Given the description of an element on the screen output the (x, y) to click on. 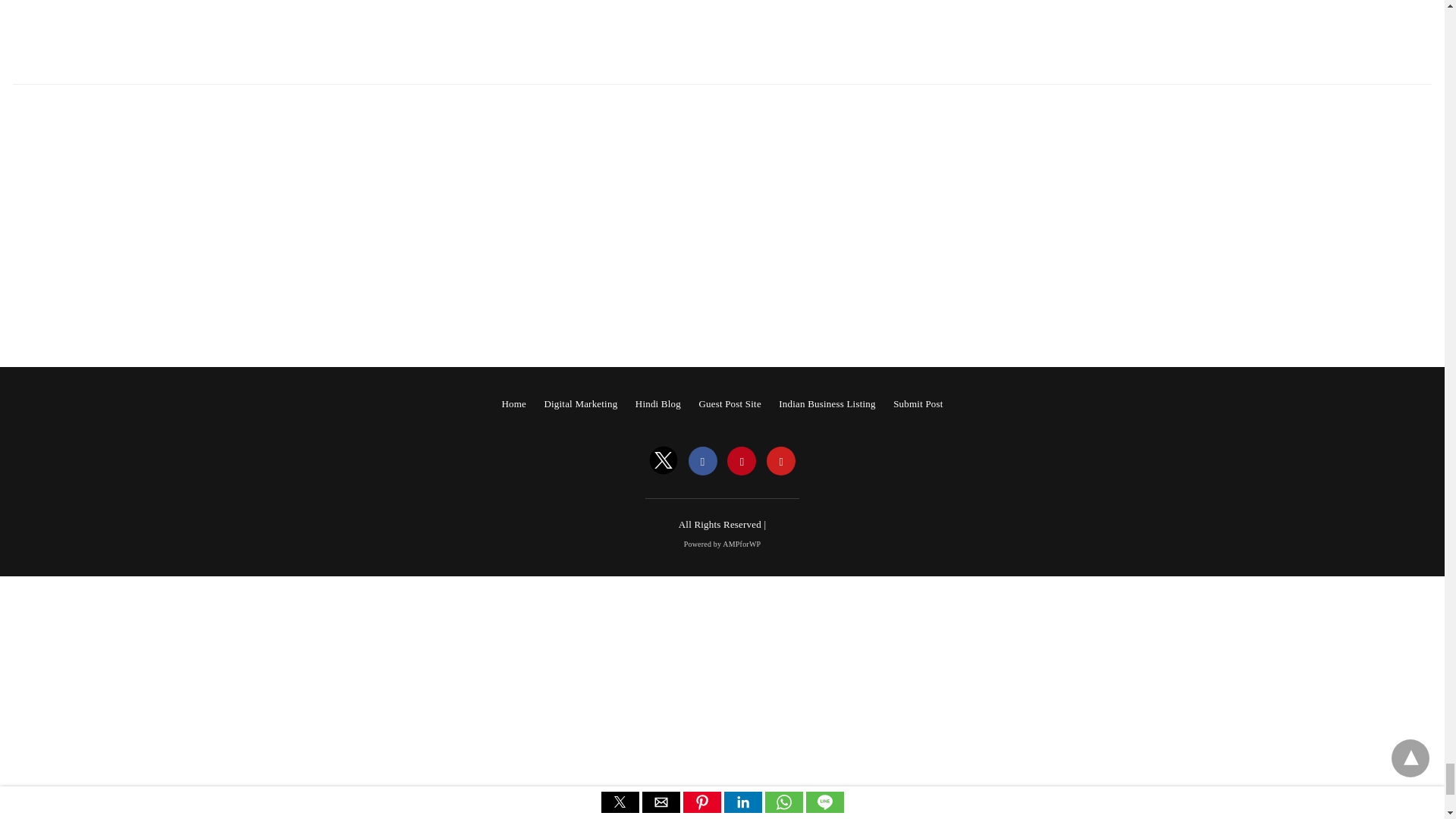
Digital Marketing (580, 403)
Home (512, 403)
twitter profile (663, 461)
